Given the description of an element on the screen output the (x, y) to click on. 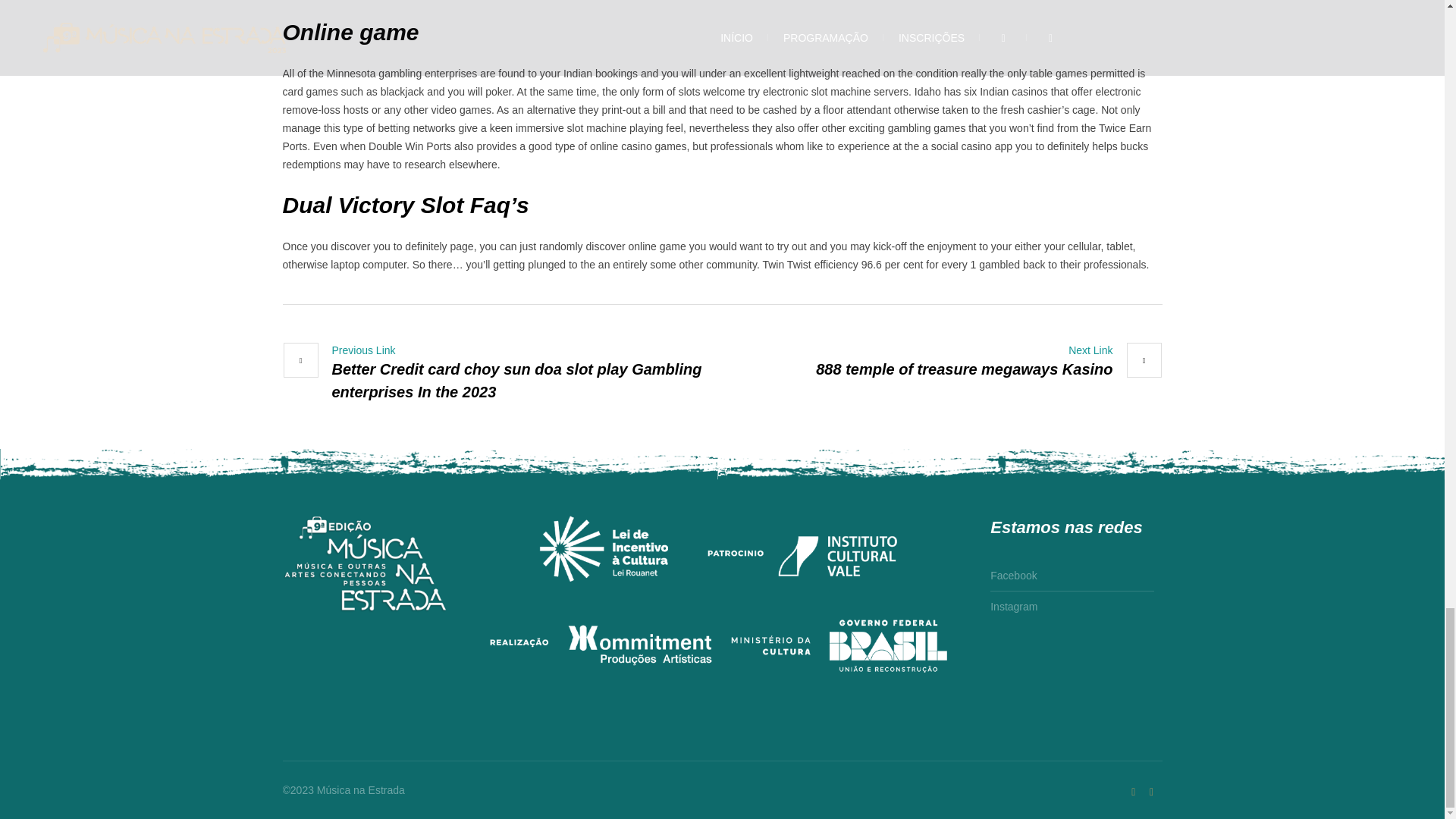
Instagram (1013, 603)
Facebook (1013, 578)
888 temple of treasure megaways Kasino (988, 361)
Facebook (1151, 792)
